Given the description of an element on the screen output the (x, y) to click on. 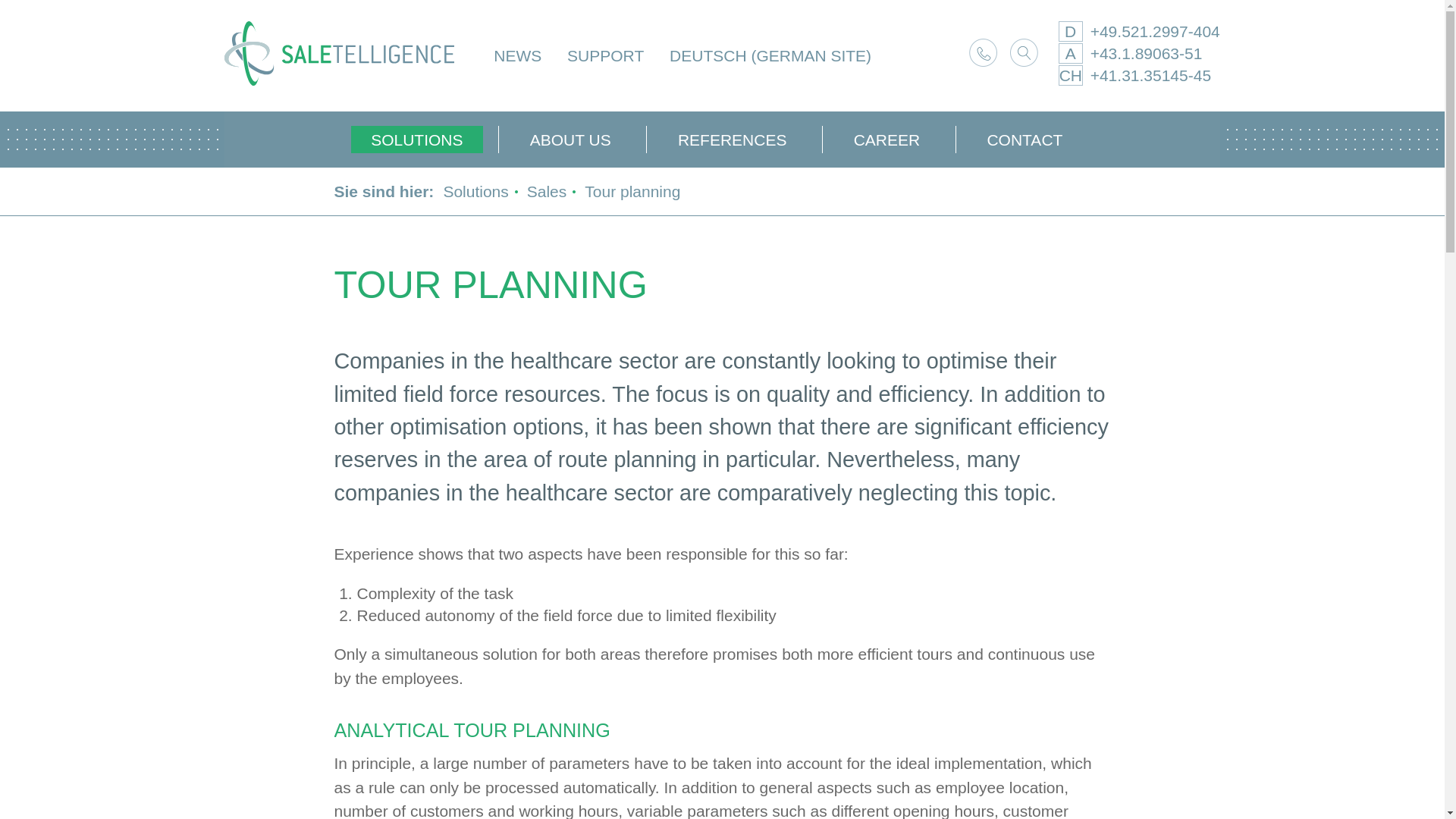
REFERENCES (731, 139)
Suche (1024, 52)
Kontakt (983, 52)
ABOUT US (569, 139)
CAREER (886, 139)
SOLUTIONS (421, 139)
NEWS (517, 55)
SUPPORT (605, 55)
CONTACT (1024, 139)
